Given the description of an element on the screen output the (x, y) to click on. 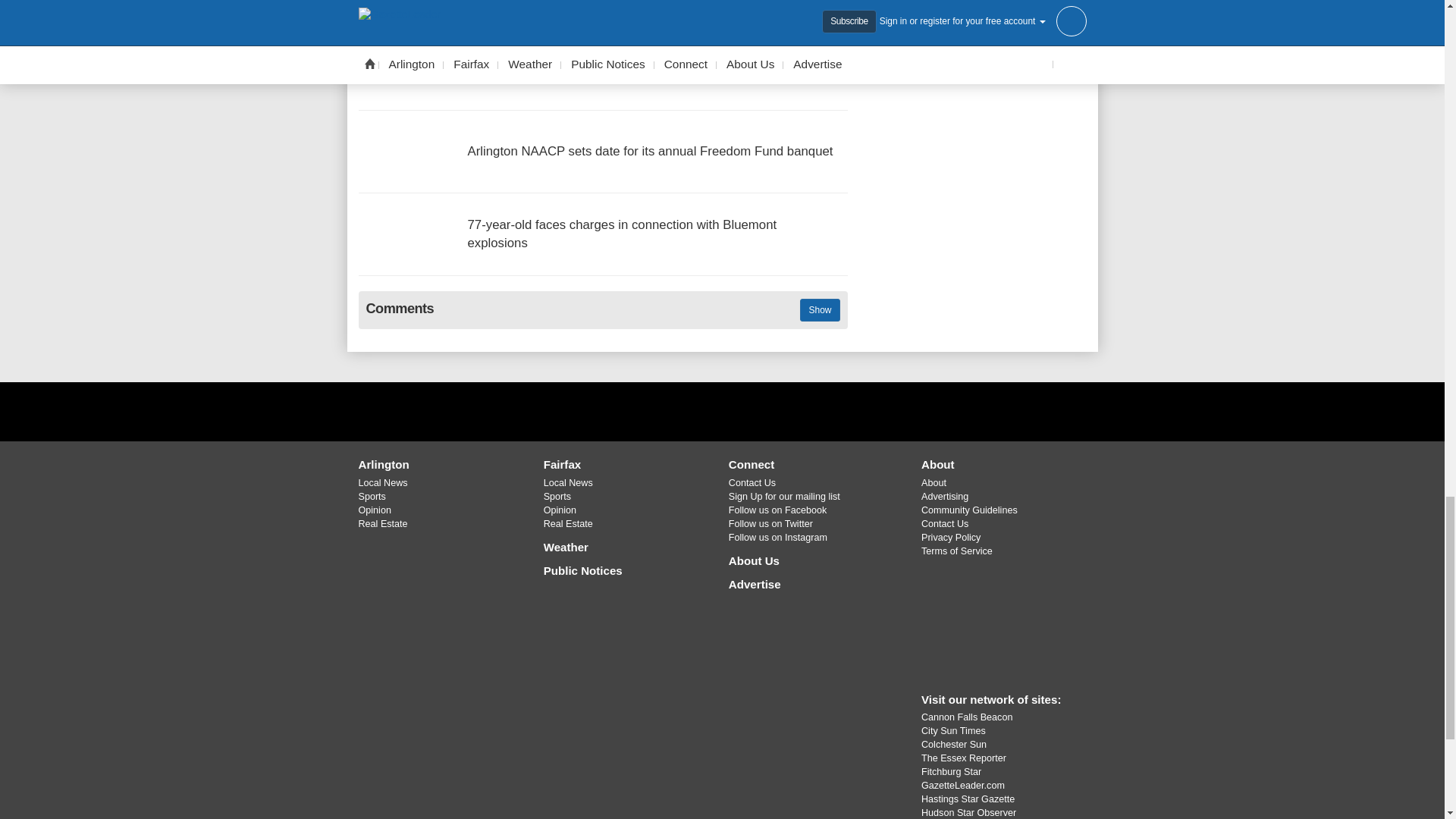
X (721, 411)
Instagram (760, 411)
Facebook (683, 411)
